Given the description of an element on the screen output the (x, y) to click on. 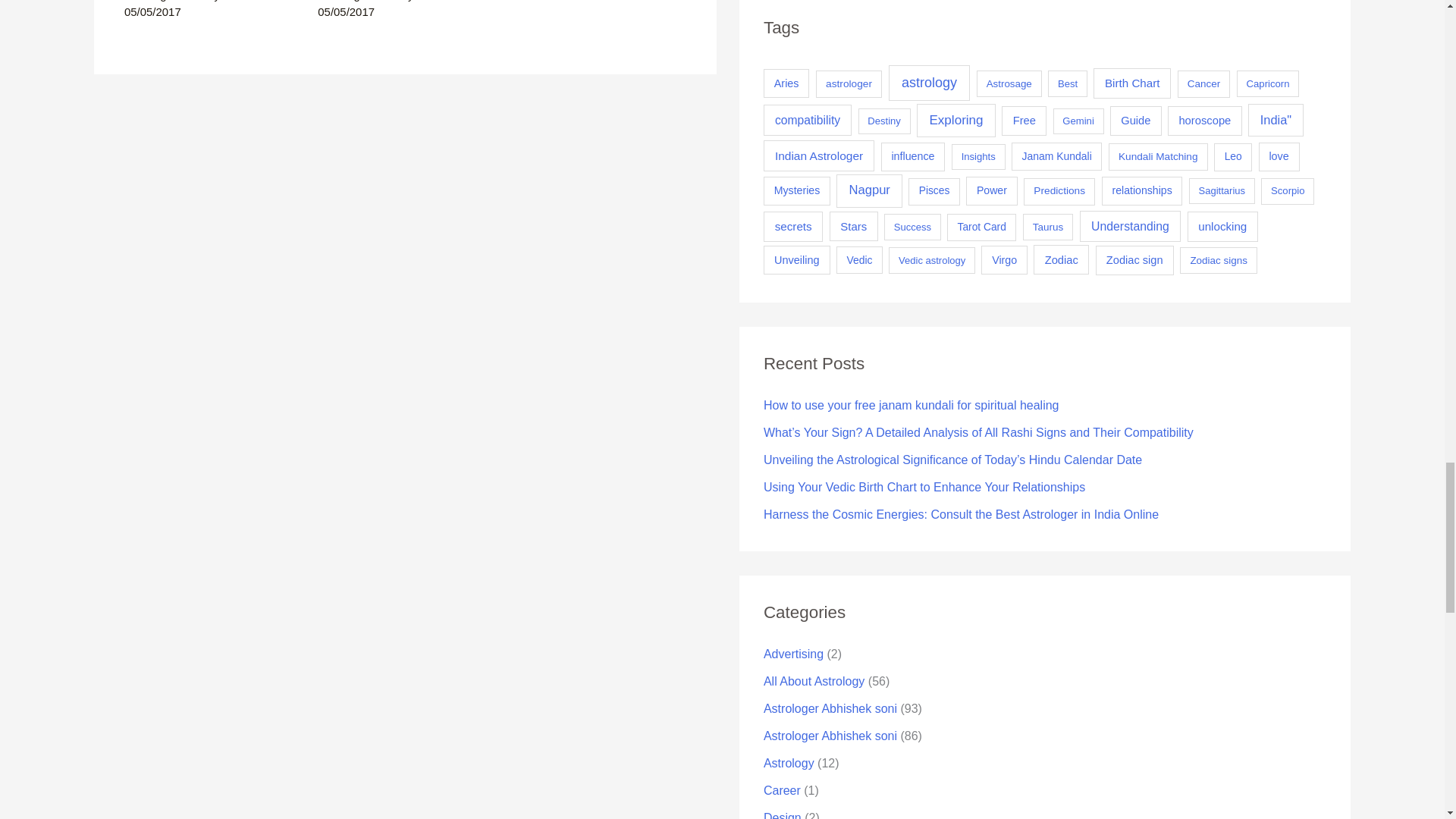
View all posts by admin (239, 0)
admin (239, 0)
admin (433, 0)
View all posts by admin (433, 0)
Uncategorized (353, 0)
Uncategorized (159, 0)
